Given the description of an element on the screen output the (x, y) to click on. 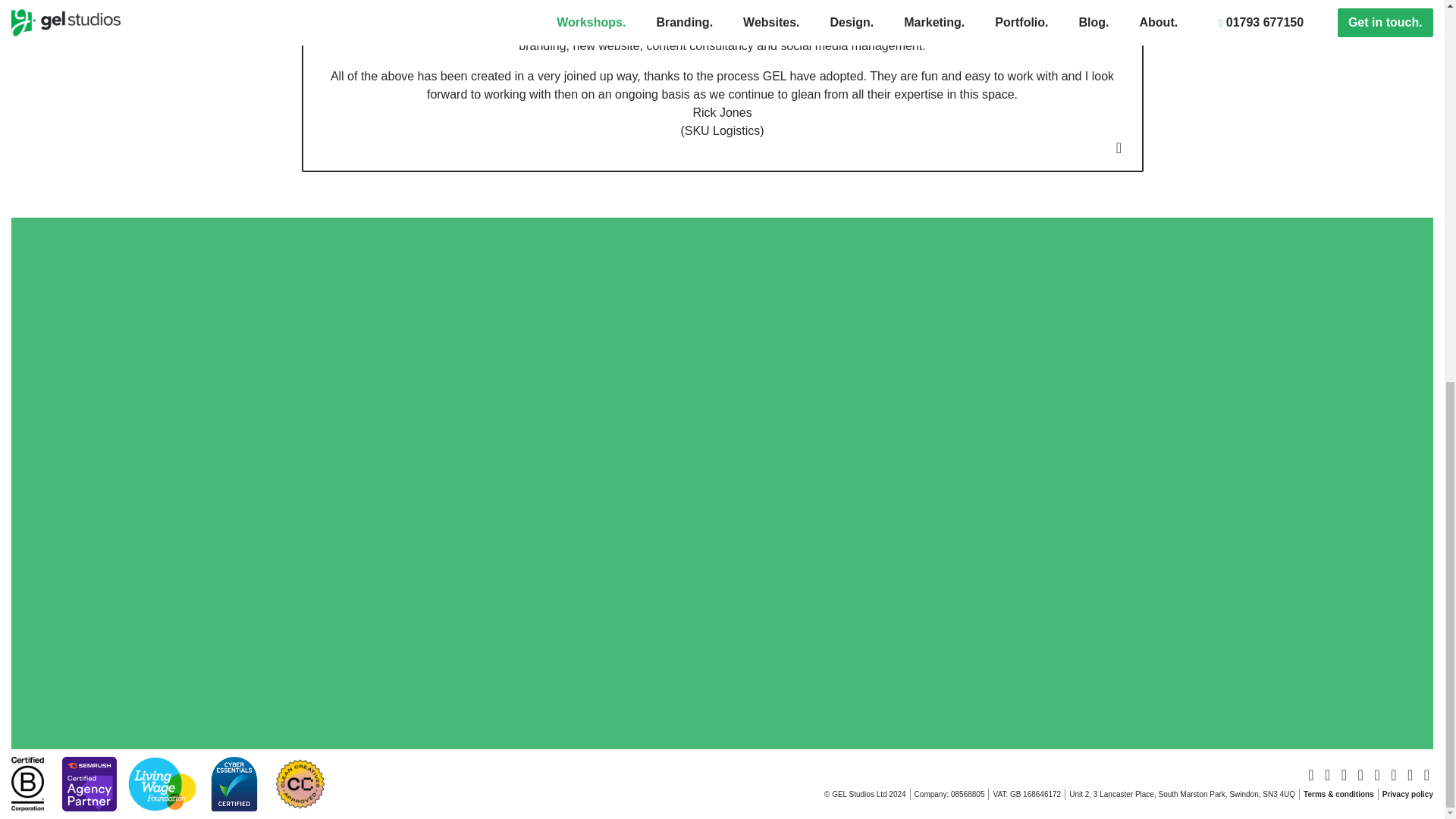
View GEL Studios SEM Rush agency partner profile (89, 782)
View our Privacy policy (1406, 794)
View GEL Studios living wage credentials (161, 782)
View GEL Studios Cyber Essentials Certification (233, 782)
GEL Studios has taken the Clean Creatives Pledge (298, 782)
View GEL Studios B-Corporation profile (33, 782)
